Given the description of an element on the screen output the (x, y) to click on. 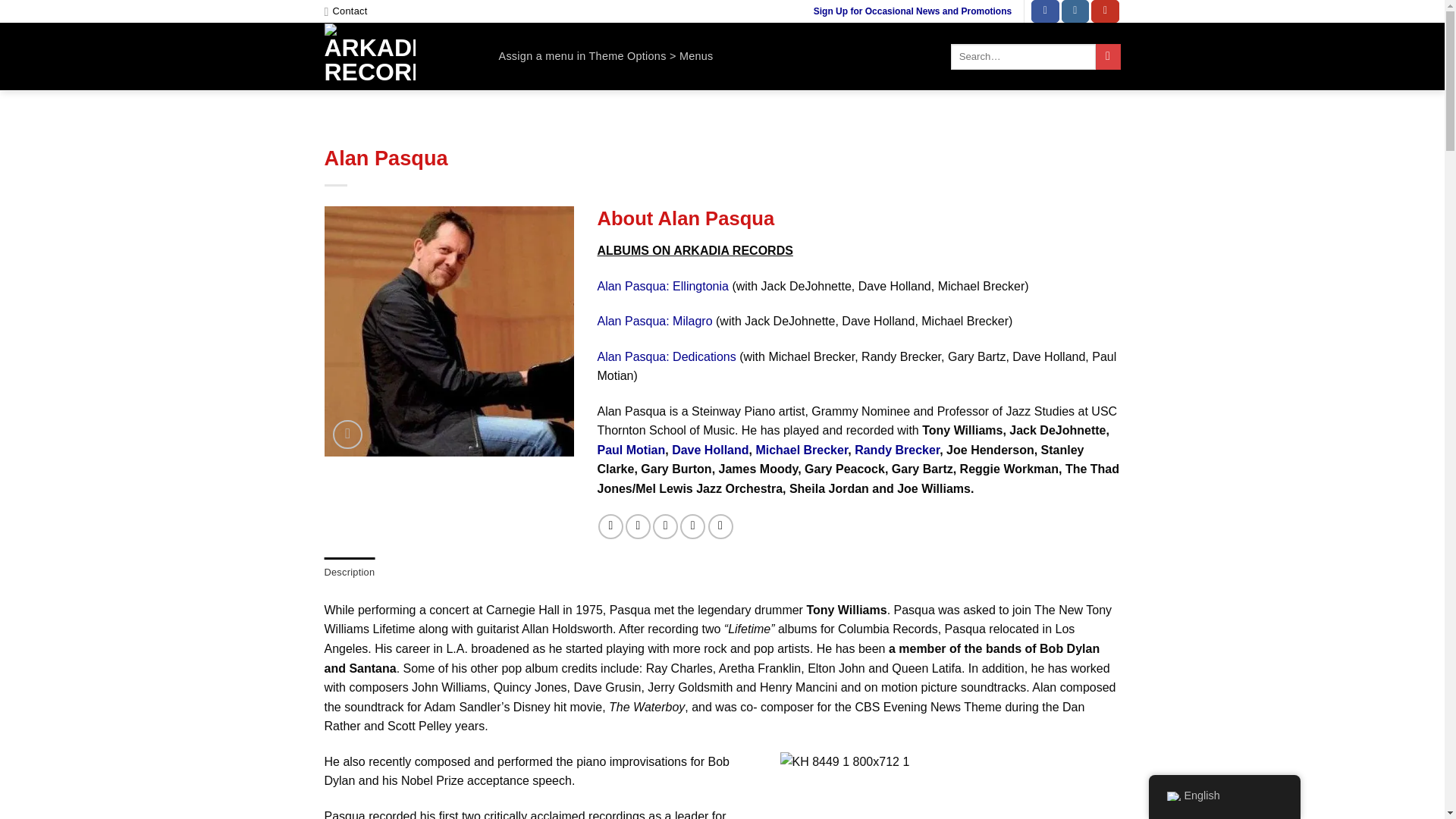
Search (1108, 56)
Paul Motian (630, 449)
ALAN PASQUA: Dedications (801, 449)
ALAN PASQUA: Dedications (709, 449)
Dave Holland (709, 449)
Follow on Facebook (1044, 11)
Zoom (347, 434)
Alan Pasqua: Milagro (653, 320)
Contact (346, 11)
Follow on YouTube (1104, 11)
